Given the description of an element on the screen output the (x, y) to click on. 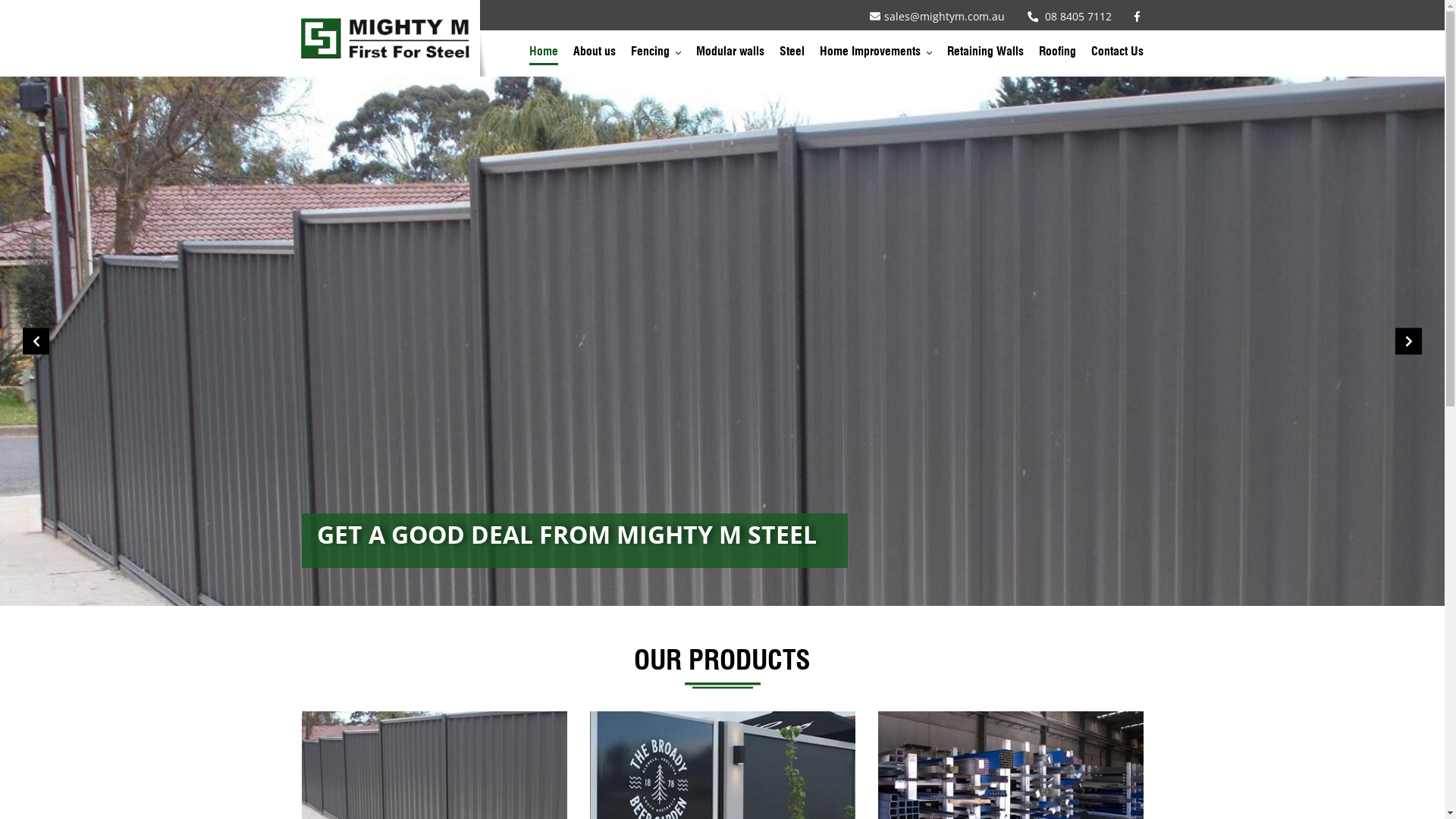
Fencing Element type: text (655, 55)
Roofing Element type: text (1057, 55)
Retaining Walls Element type: text (984, 55)
fencing-banner Element type: hover (722, 341)
sales@mightym.com.au Element type: text (936, 16)
Steel Element type: text (791, 55)
Modular walls Element type: text (730, 55)
Home Improvements Element type: text (875, 55)
Contact Us Element type: text (1116, 55)
About us Element type: text (594, 55)
Home Element type: text (543, 55)
08 8405 7112 Element type: text (1068, 16)
